Given the description of an element on the screen output the (x, y) to click on. 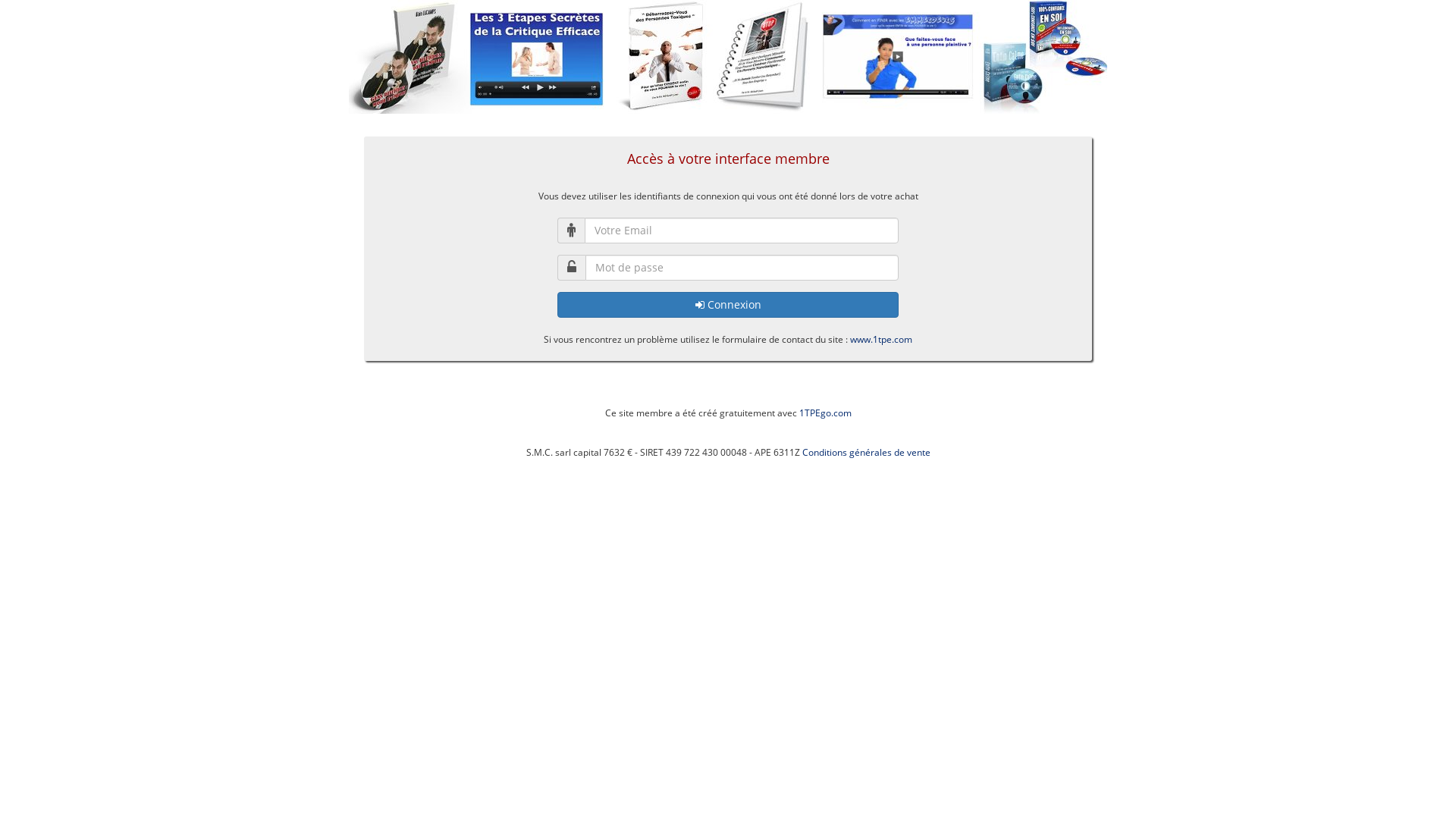
Connexion Element type: text (727, 304)
www.1tpe.com Element type: text (881, 338)
1TPEgo.com Element type: text (825, 412)
